Given the description of an element on the screen output the (x, y) to click on. 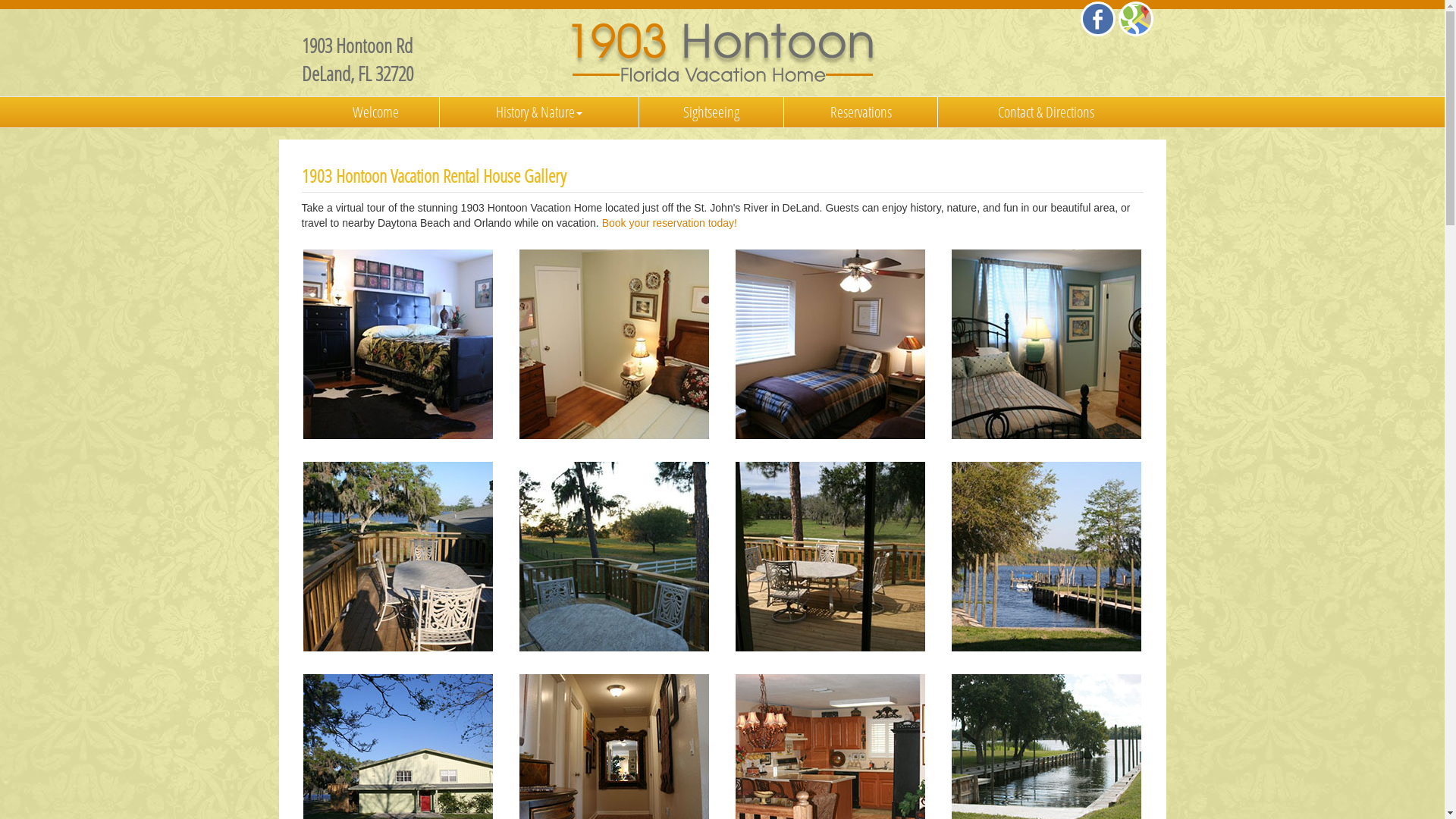
1903 Hontoon Element type: hover (830, 556)
Sightseeing Element type: text (711, 112)
1903 Hontoon Element type: hover (397, 556)
Reservations Element type: text (861, 112)
Contact & Directions Element type: text (1046, 112)
1903 Hontoon Element type: hover (830, 344)
History & Nature Element type: text (539, 112)
1903 Hontoon Element type: hover (614, 344)
Book your reservation today! Element type: text (669, 222)
1903 Hontoon Element type: hover (1046, 556)
1903 Hontoon Element type: hover (1046, 344)
google plus Element type: hover (1135, 18)
1903 Hontoon Element type: hover (397, 344)
1903 Hontoon Element type: hover (721, 52)
Facebook Element type: hover (1097, 18)
1903 Hontoon Element type: hover (614, 556)
Welcome Element type: text (375, 112)
